Given the description of an element on the screen output the (x, y) to click on. 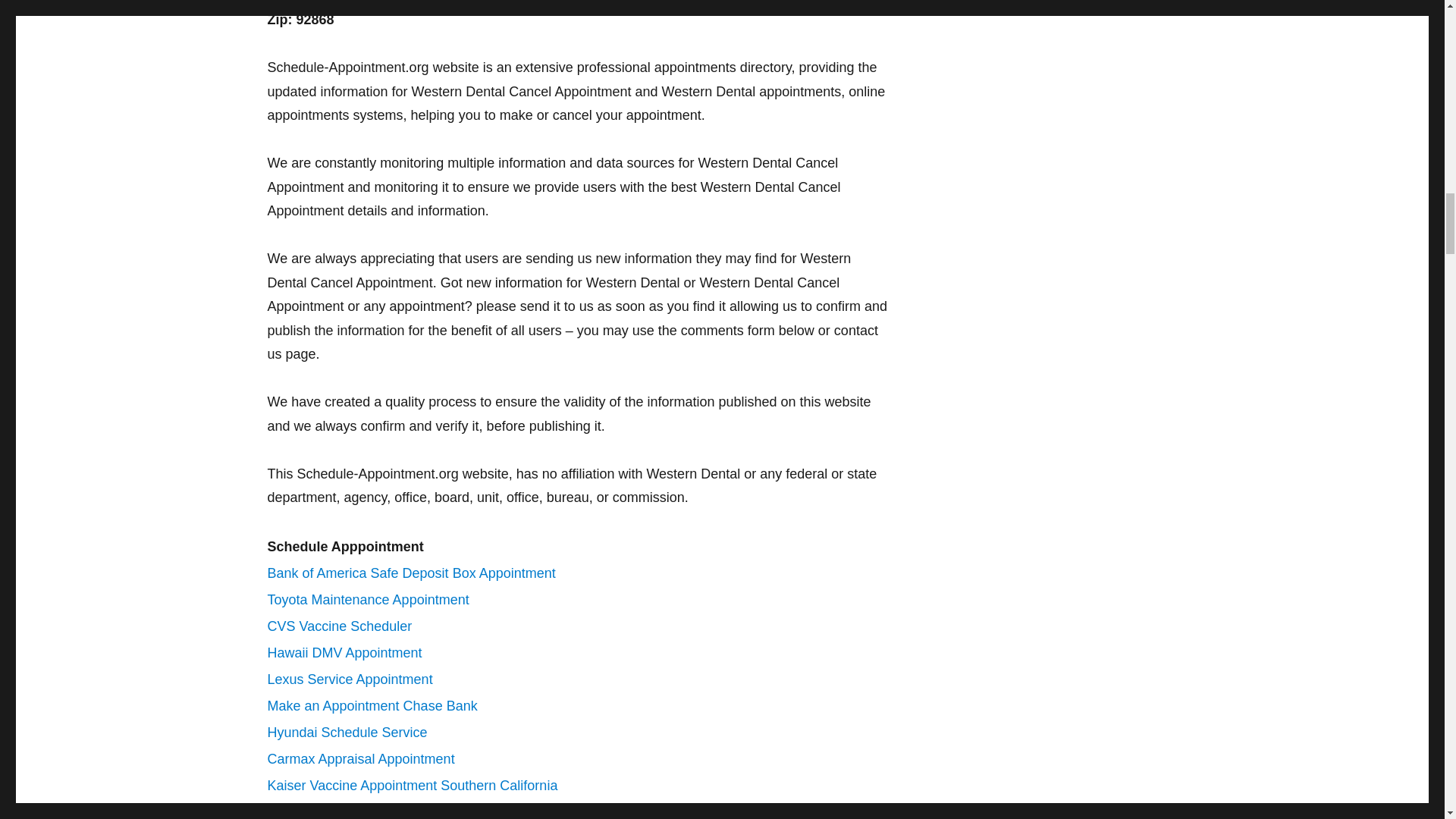
Bank of America Safe Deposit Box Appointment (410, 572)
Toyota Maintenance Appointment (367, 599)
Hyundai Schedule Service (346, 732)
Make an Appointment Chase Bank (371, 705)
Carmax Appraisal Appointment (360, 758)
Hawaii DMV Appointment (344, 652)
Kaiser Vaccine Appointment Southern California (411, 785)
Lexus Service Appointment (349, 679)
Bofa Schedule Appointment (350, 811)
CVS Vaccine Scheduler (339, 626)
